Given the description of an element on the screen output the (x, y) to click on. 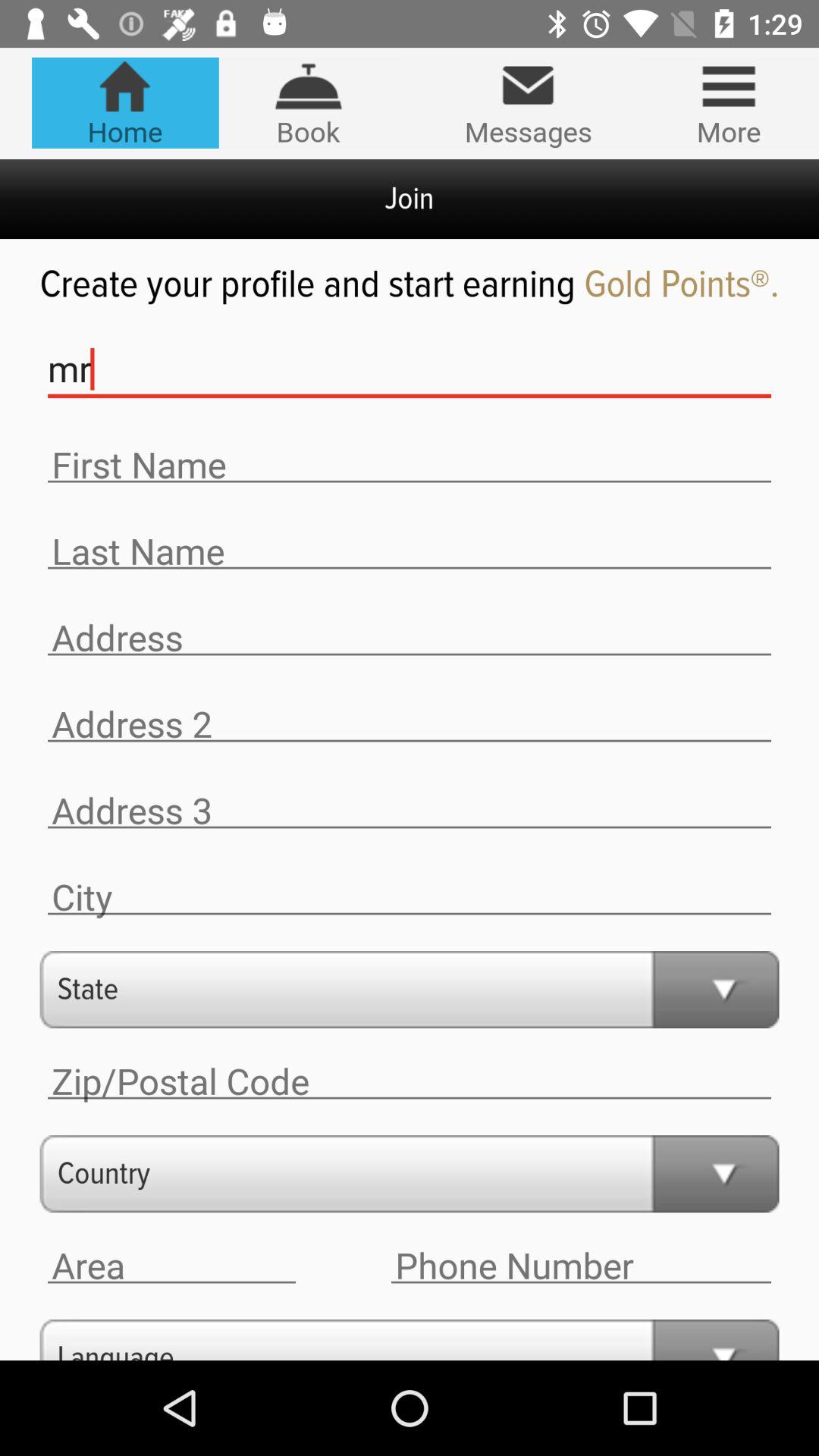
address (409, 811)
